Given the description of an element on the screen output the (x, y) to click on. 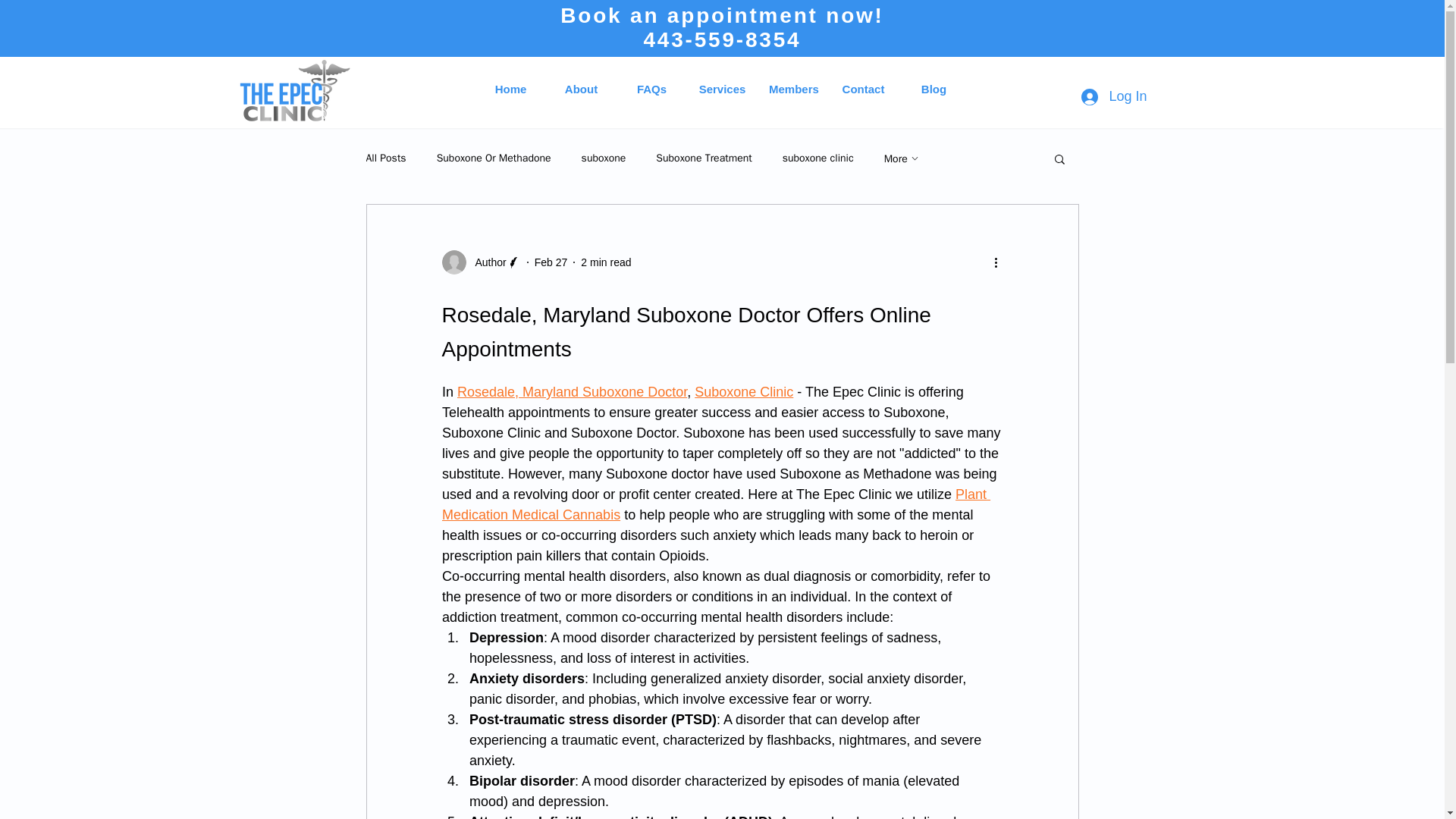
Author (480, 262)
Log In (1113, 96)
All Posts (385, 158)
Home (511, 89)
Blog (933, 89)
Services (722, 89)
suboxone clinic (818, 158)
About (580, 89)
Author  (485, 262)
Members (792, 89)
